Given the description of an element on the screen output the (x, y) to click on. 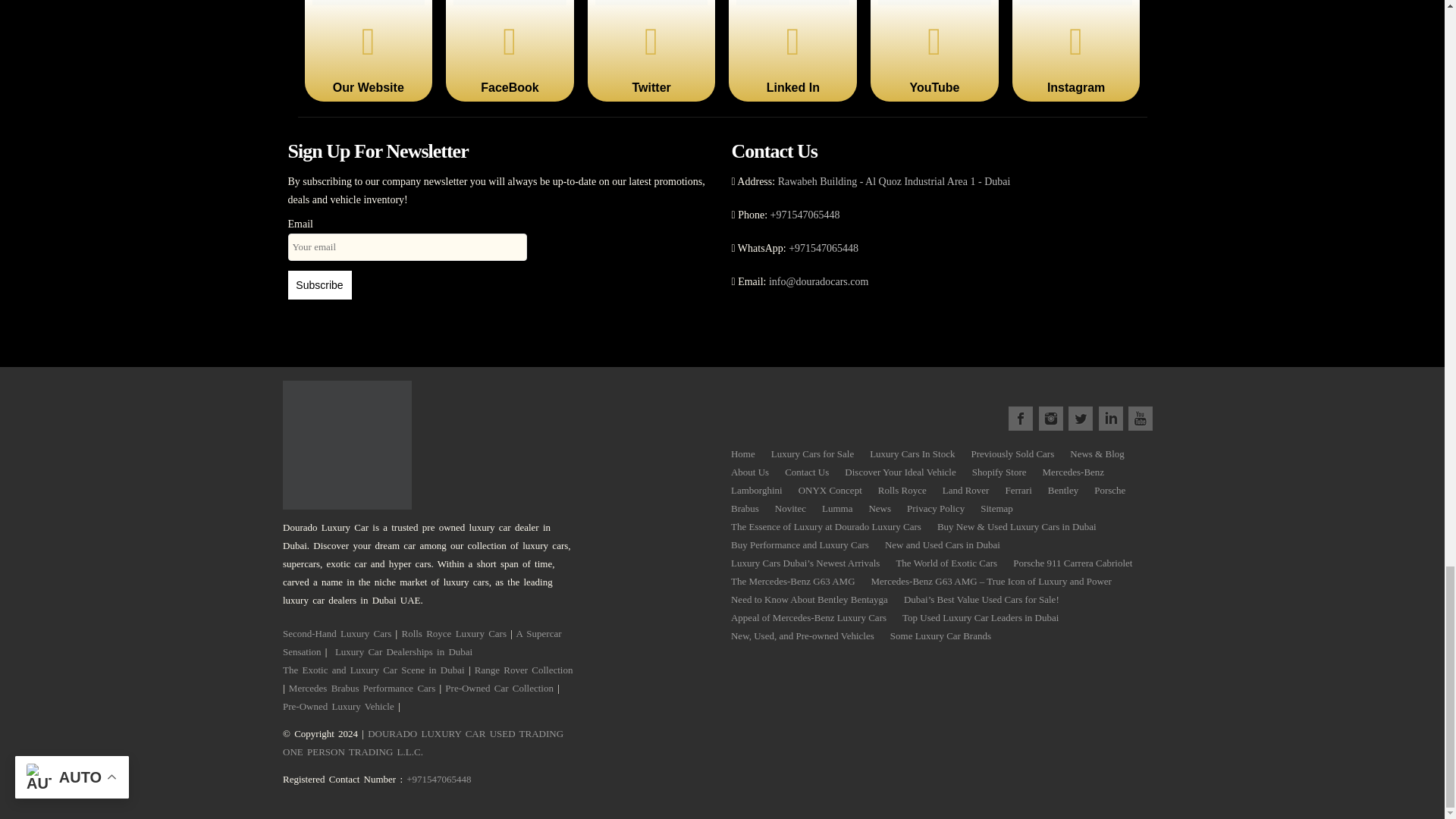
DOURADO LUXURY CAR TRADING L.L.C. (422, 742)
Subscribe (320, 285)
